Given the description of an element on the screen output the (x, y) to click on. 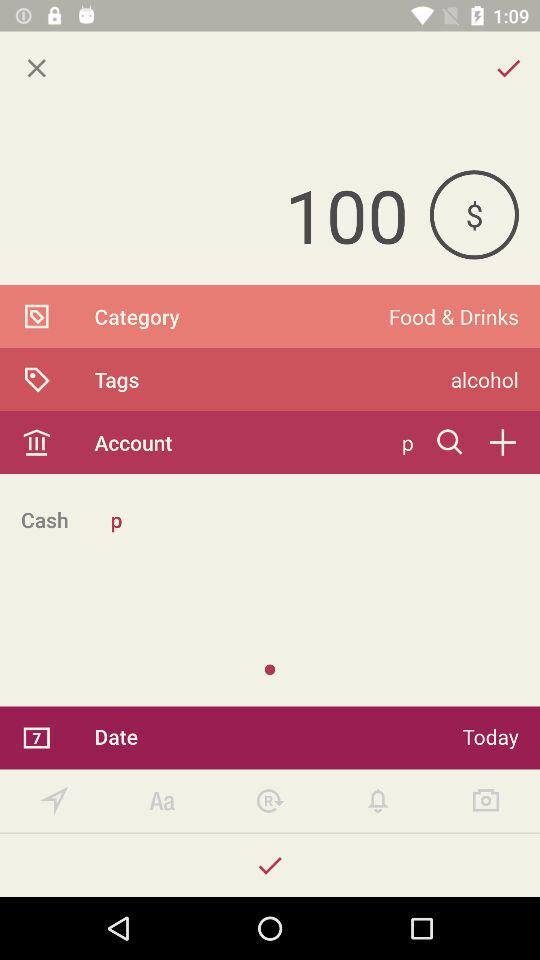
launch item to the right of the p item (450, 442)
